Given the description of an element on the screen output the (x, y) to click on. 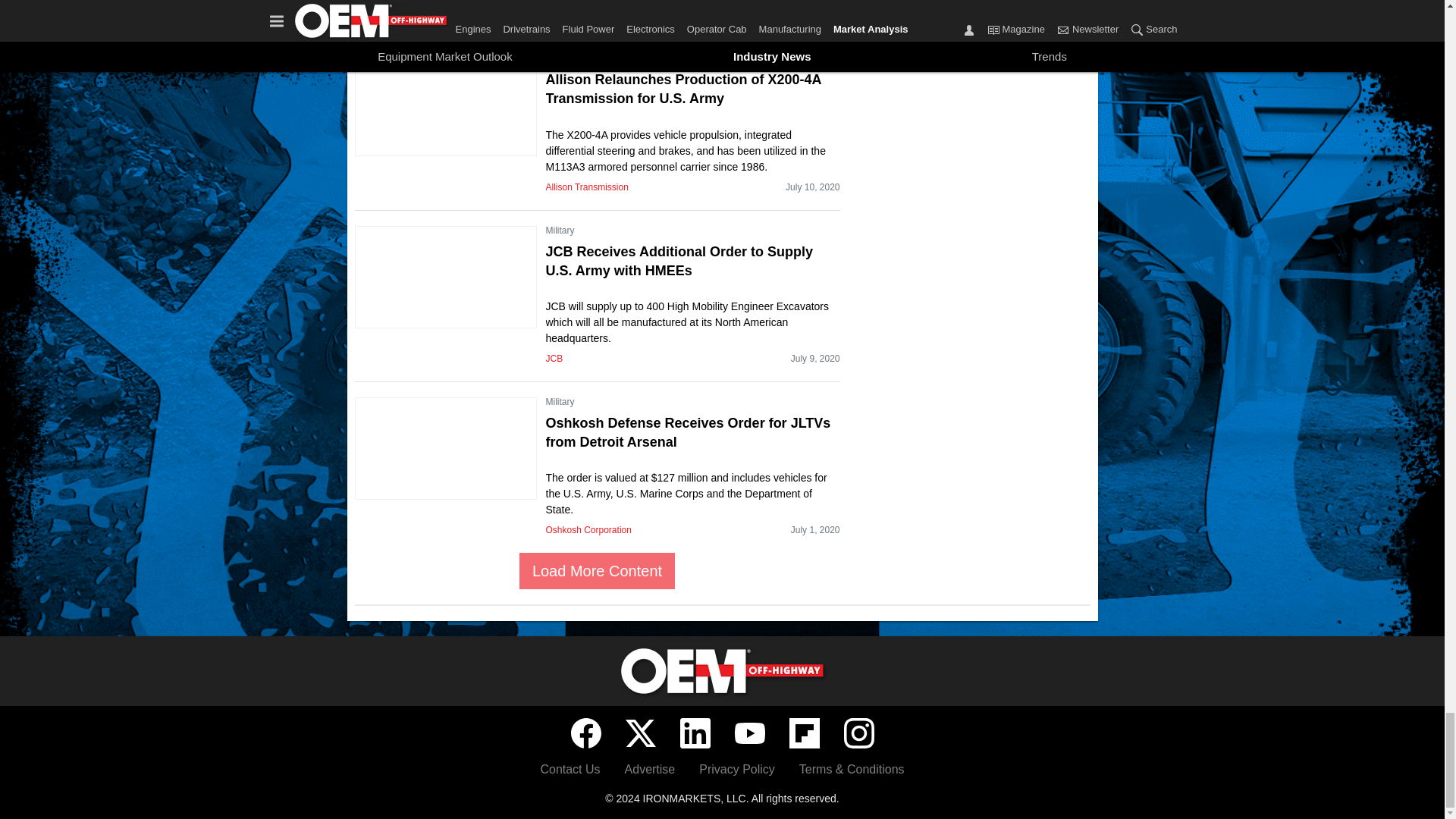
Twitter X icon (639, 733)
Flipboard icon (803, 733)
Facebook icon (584, 733)
LinkedIn icon (694, 733)
YouTube icon (748, 733)
